Given the description of an element on the screen output the (x, y) to click on. 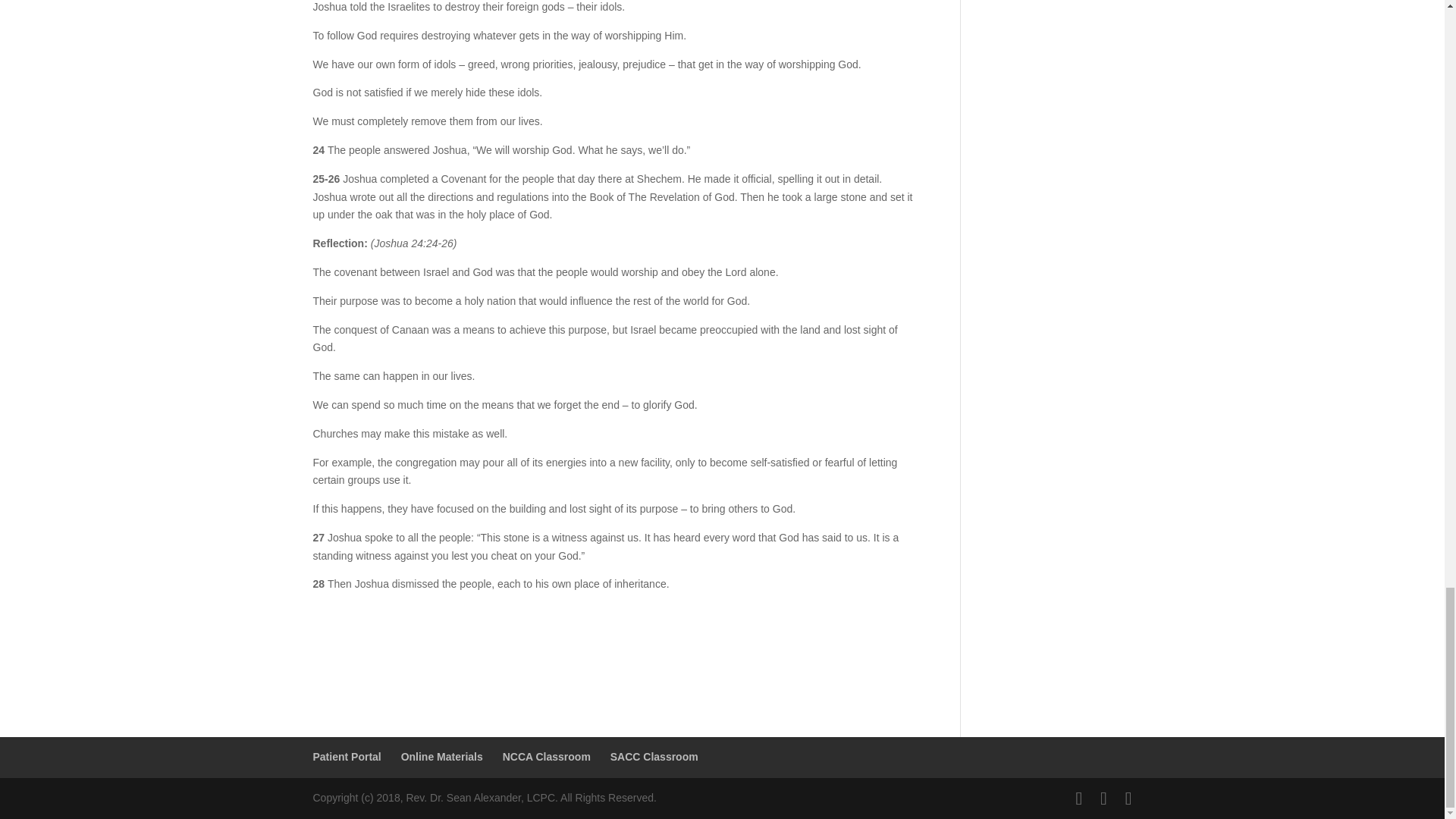
NCCA Classroom (546, 756)
Online Materials (442, 756)
Patient Portal (346, 756)
SACC Classroom (654, 756)
